Given the description of an element on the screen output the (x, y) to click on. 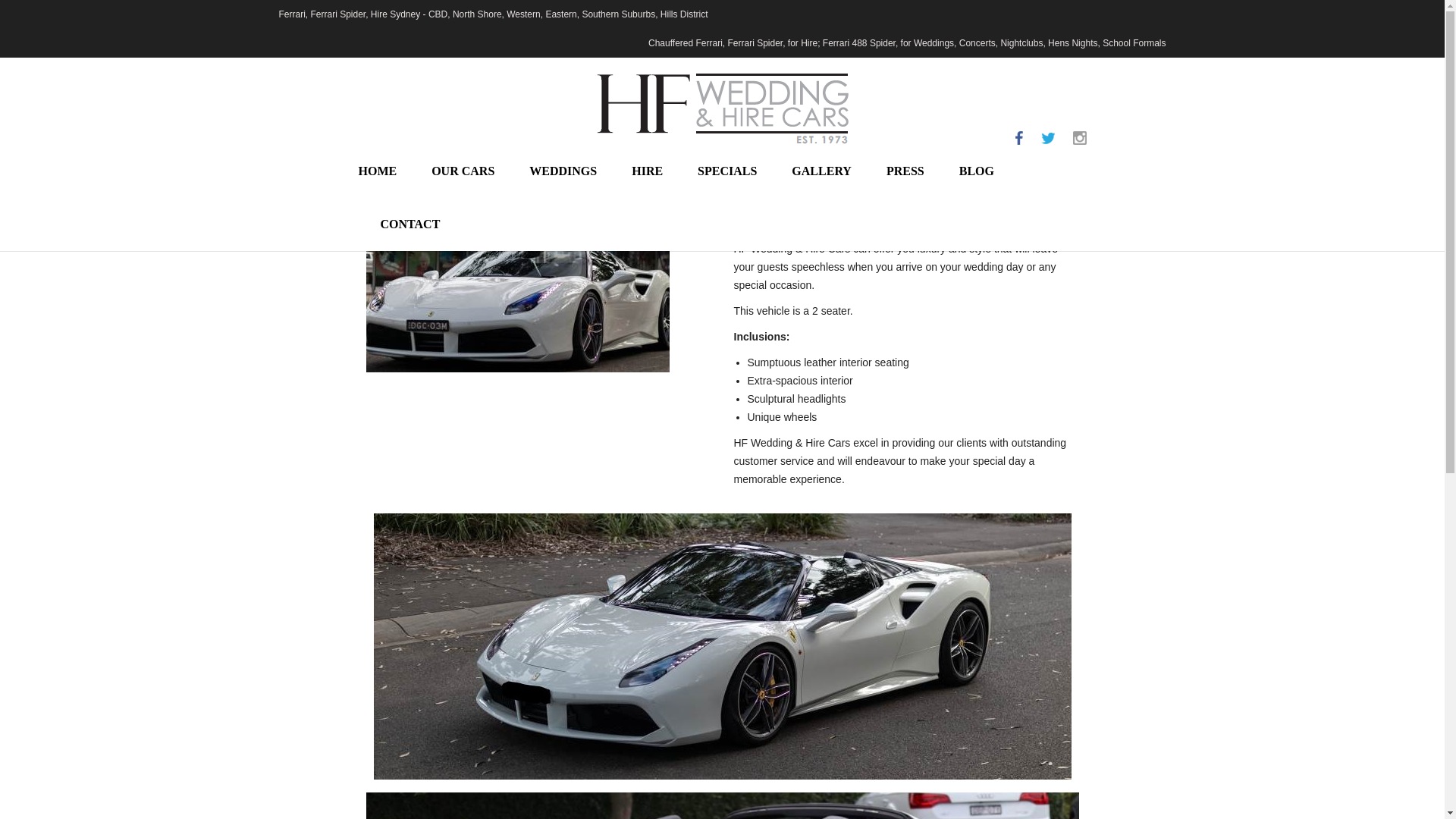
PRESS (905, 171)
Our Cars small 1 (516, 296)
GALLERY (821, 171)
c (1078, 137)
t (1047, 137)
BLOG (976, 171)
WEDDINGS (563, 171)
HOME (383, 171)
CONTACT (409, 224)
OUR CARS (462, 171)
